Given the description of an element on the screen output the (x, y) to click on. 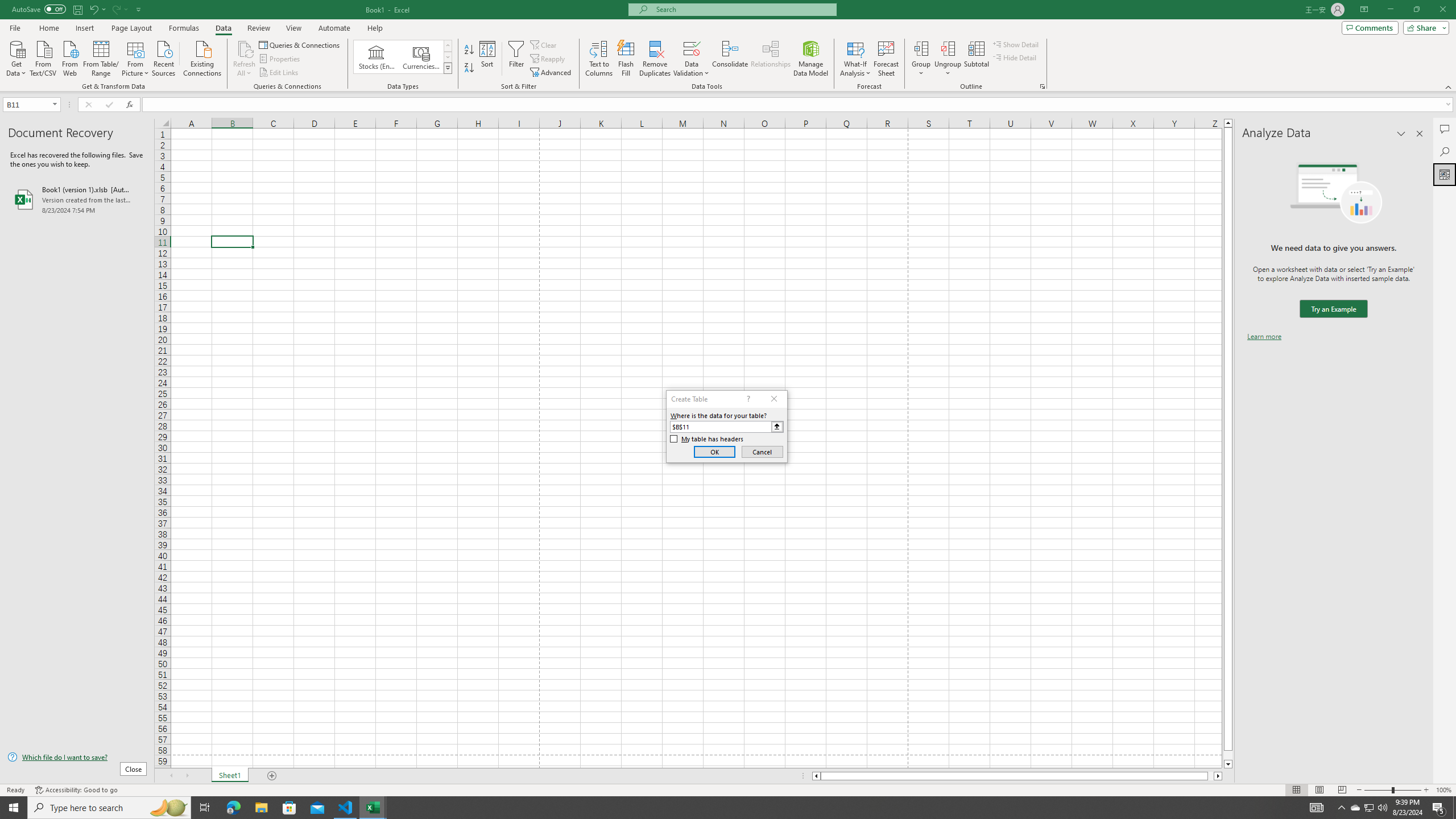
Relationships (770, 58)
Edit Links (279, 72)
Stocks (English) (375, 56)
Recent Sources (163, 57)
Currencies (English) (420, 56)
Analyze Data (1444, 173)
Reapply (548, 58)
Clear (544, 44)
